Given the description of an element on the screen output the (x, y) to click on. 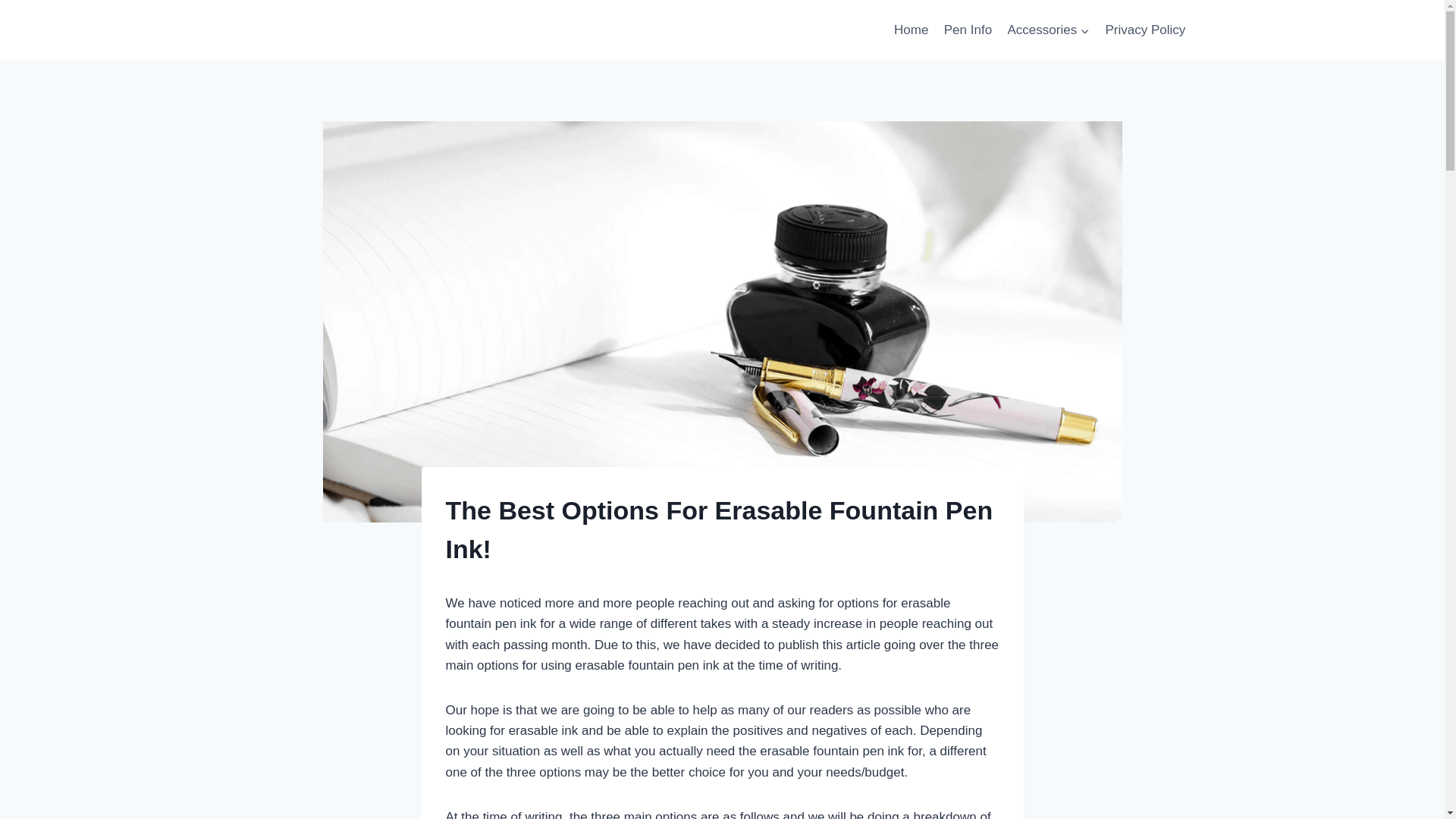
Pen Info (968, 30)
Privacy Policy (1144, 30)
Accessories (1047, 30)
Home (911, 30)
